Given the description of an element on the screen output the (x, y) to click on. 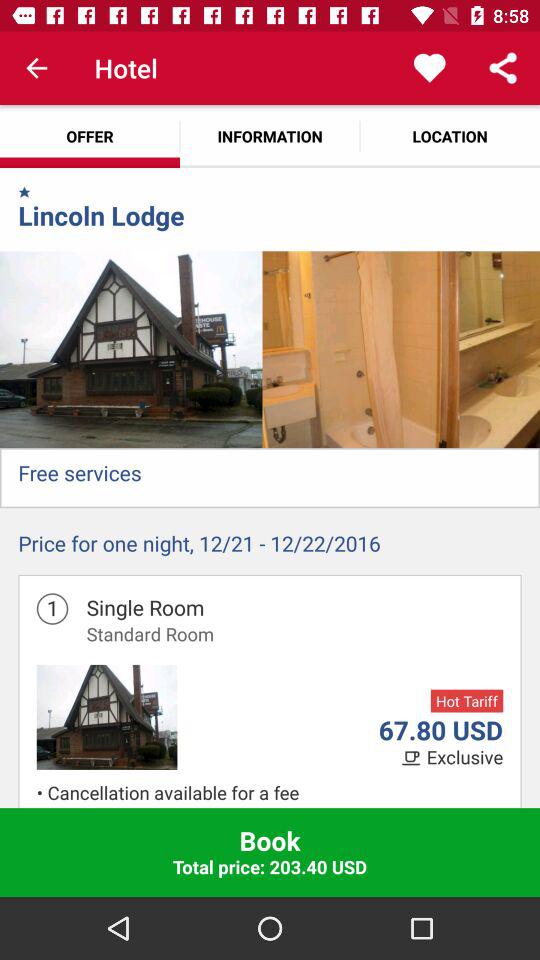
scroll until lowest price guaranteed icon (275, 806)
